Given the description of an element on the screen output the (x, y) to click on. 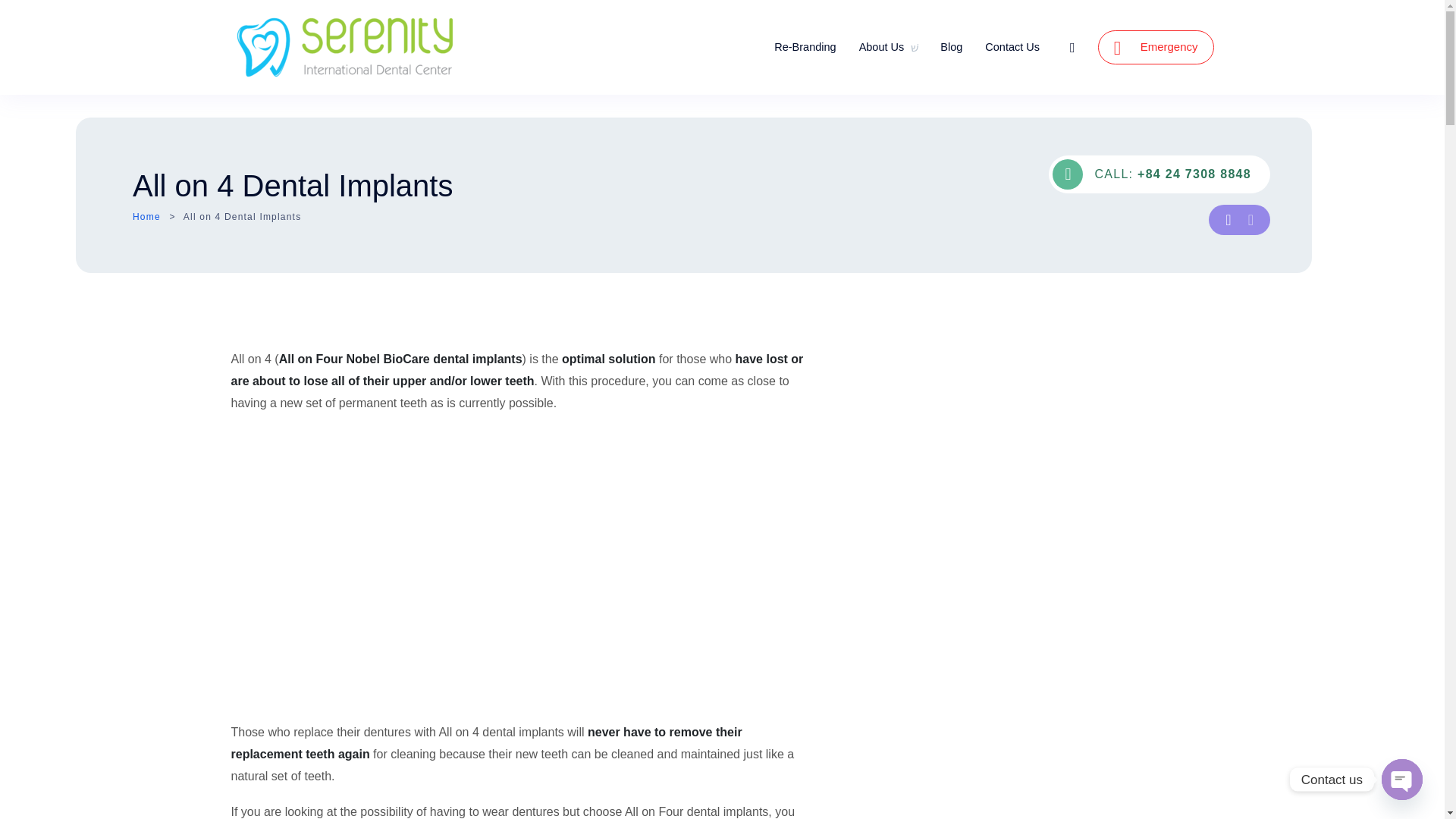
Contact Us (1012, 47)
Contact Us (1012, 47)
About Us (888, 47)
Emergency (1155, 47)
Home (146, 215)
Re-Branding (804, 47)
About Us (888, 47)
Re-Branding (804, 47)
